Given the description of an element on the screen output the (x, y) to click on. 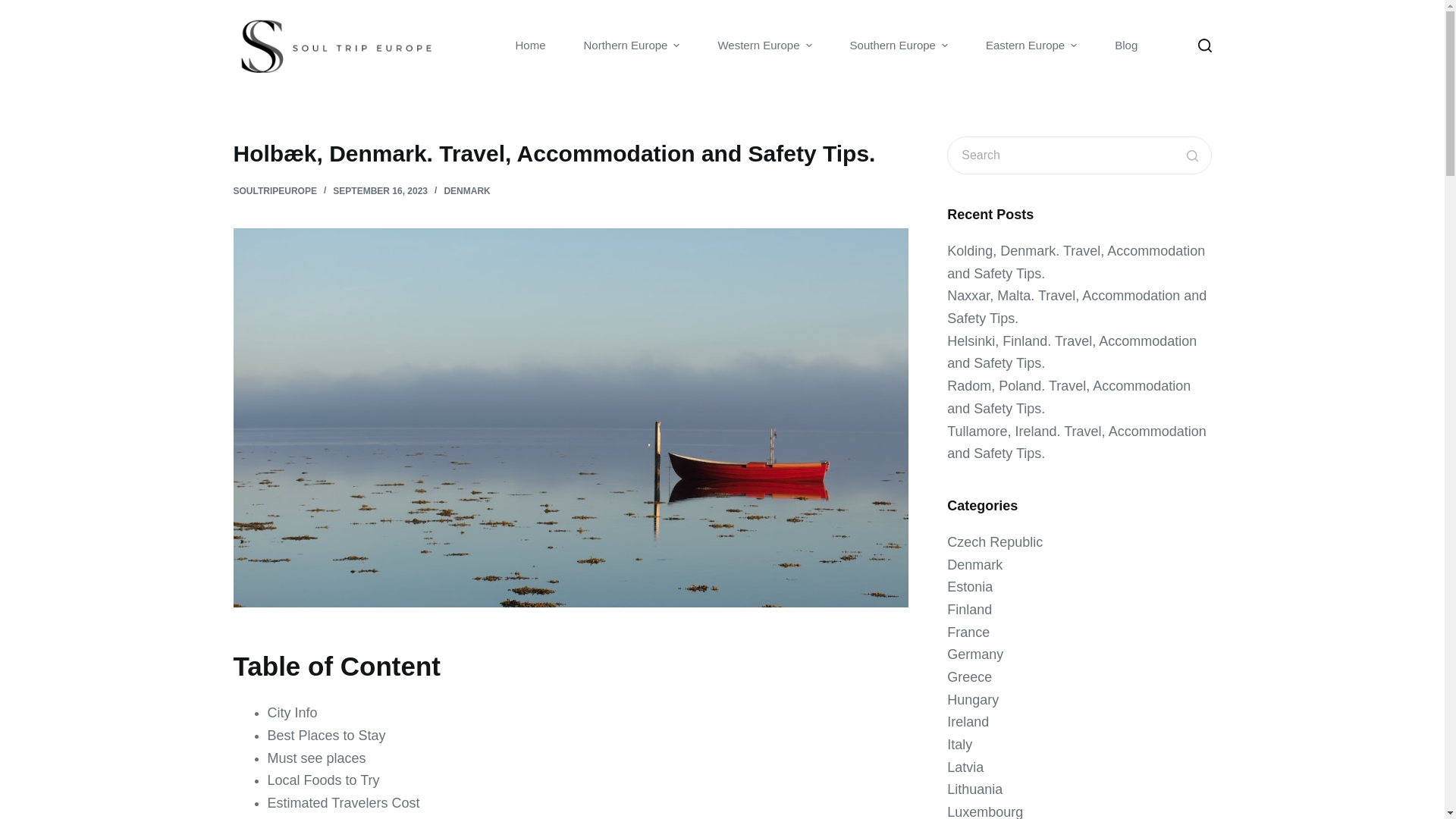
Northern Europe (631, 45)
Search for... (1079, 155)
Skip to content (15, 7)
Home (530, 45)
Posts by SoulTripEurope (274, 190)
